Given the description of an element on the screen output the (x, y) to click on. 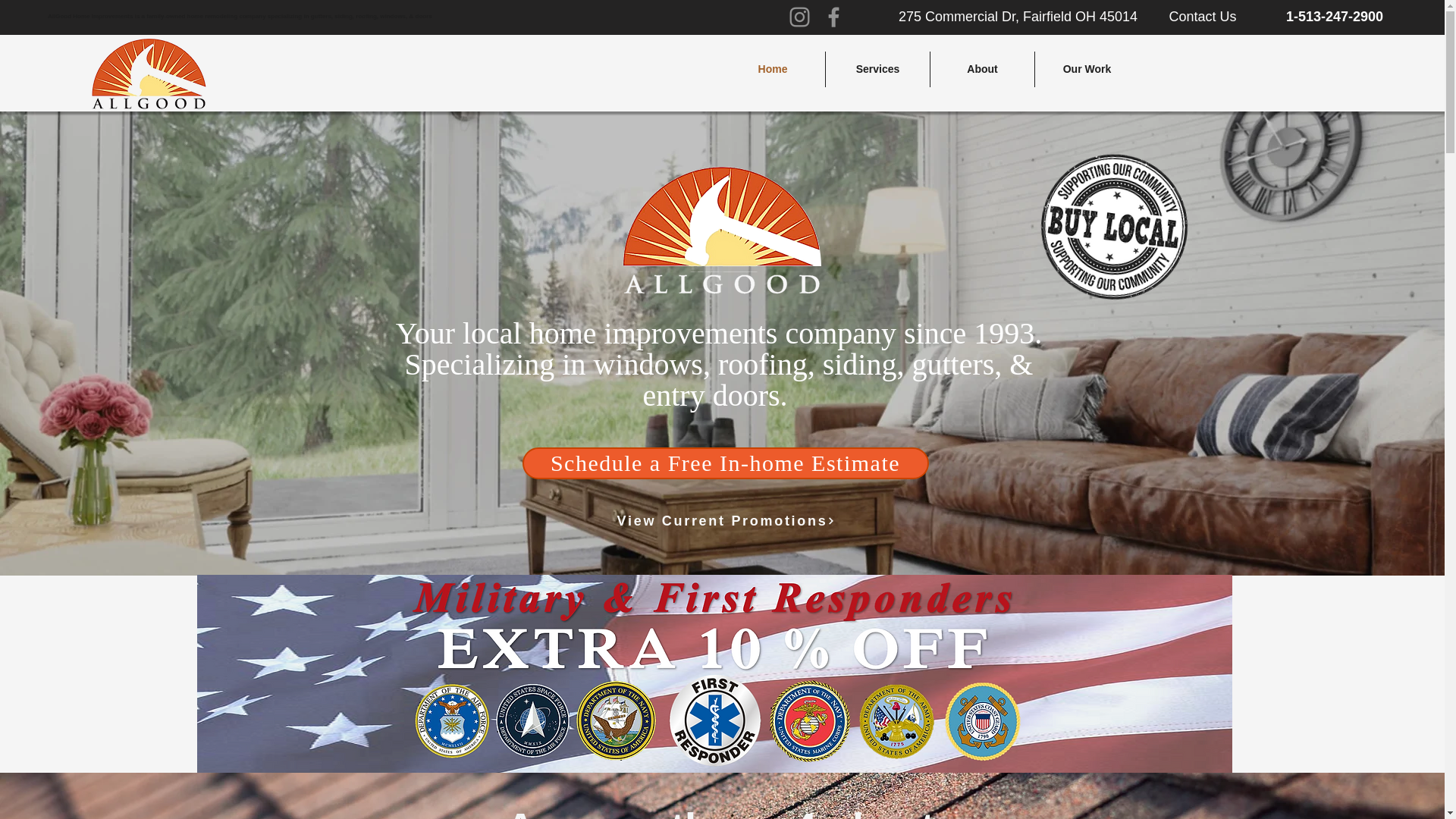
Home (772, 68)
About (981, 68)
Our Work (1086, 68)
image.png (1101, 218)
1-513-247-2900 (1334, 16)
View Current Promotions (726, 520)
Schedule a Free In-home Estimate (724, 463)
Contact Us (1202, 16)
Services (877, 68)
